Given the description of an element on the screen output the (x, y) to click on. 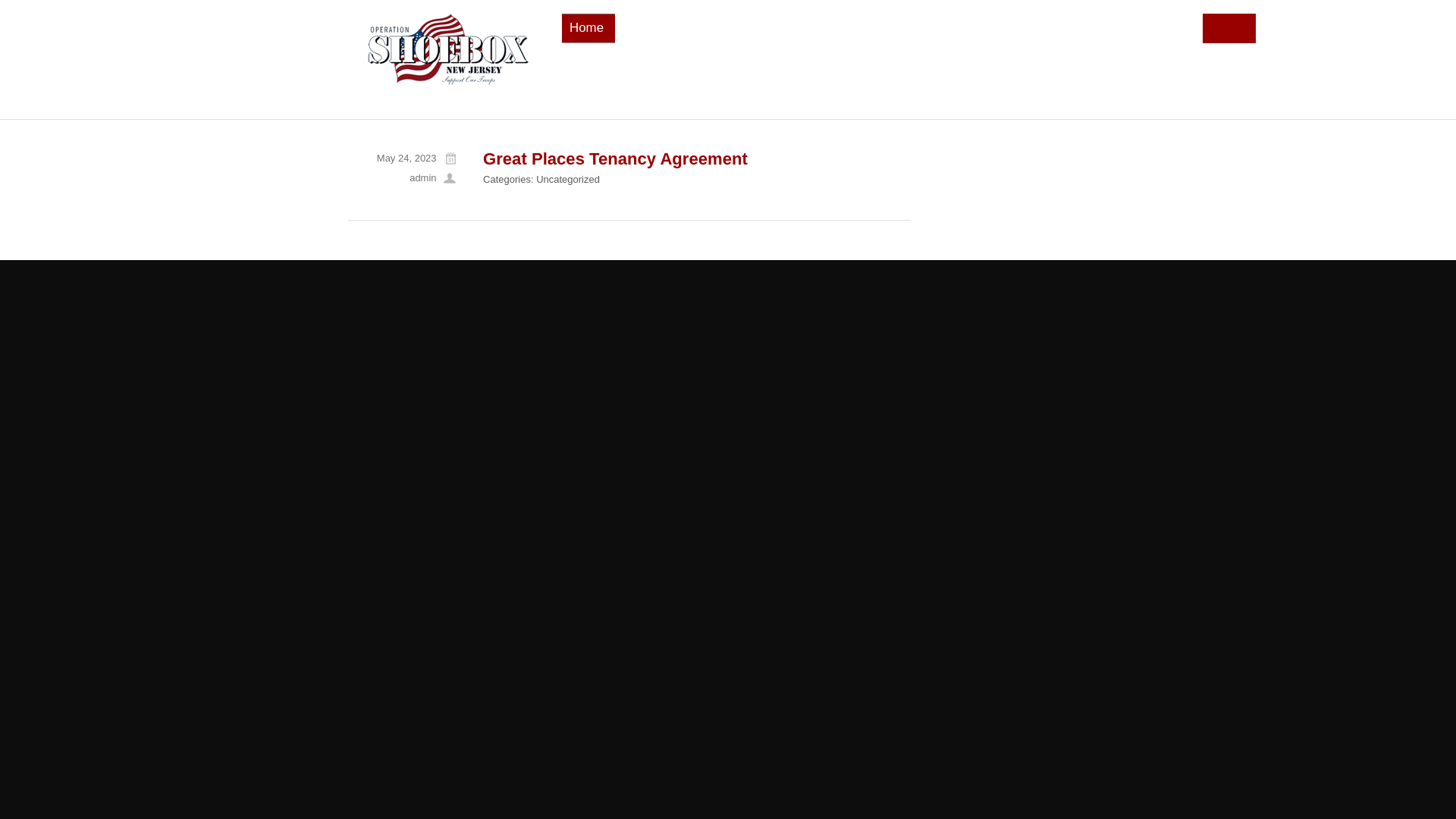
Posts by admin (422, 177)
admin (422, 177)
Home (586, 27)
